Given the description of an element on the screen output the (x, y) to click on. 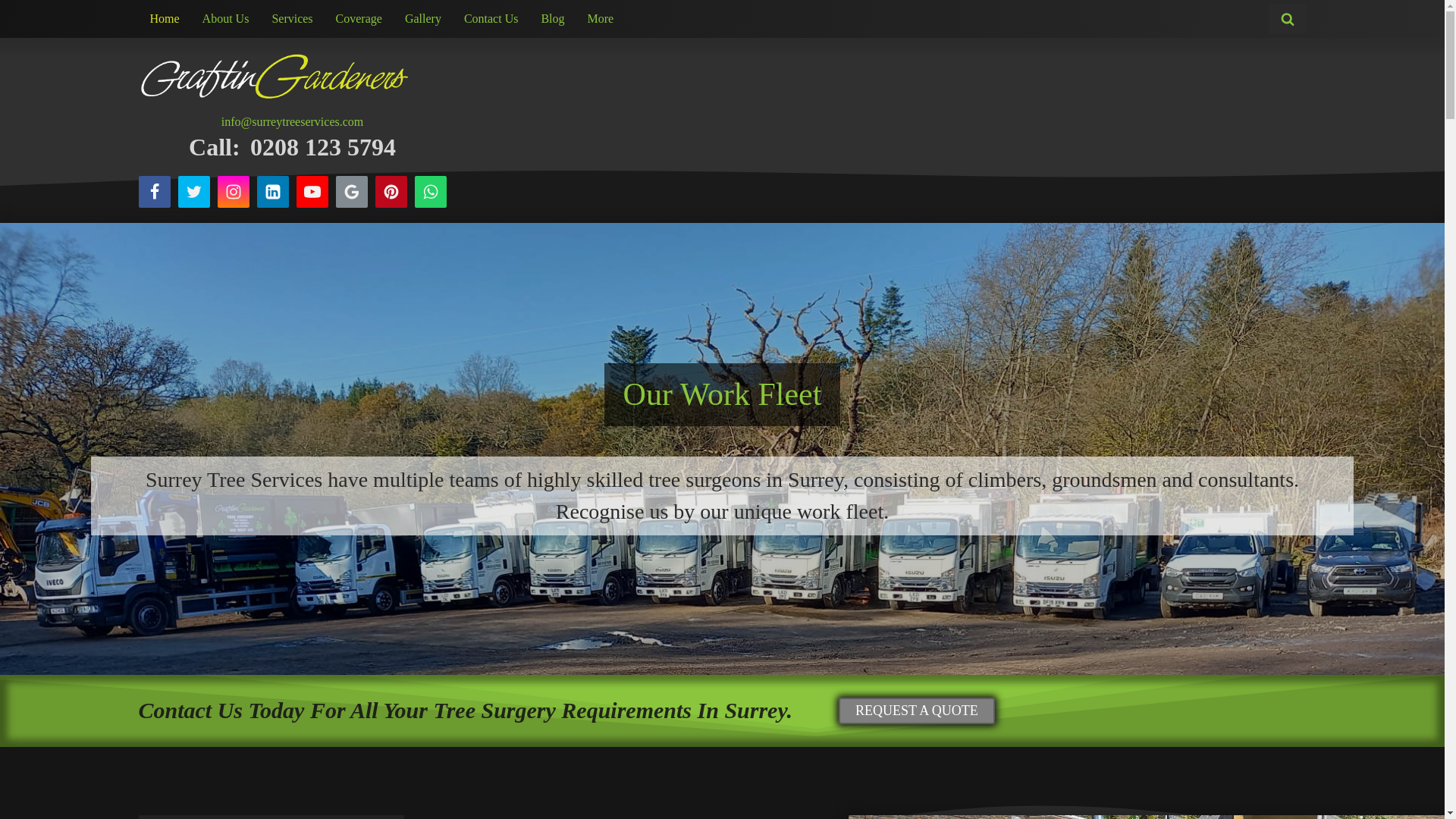
0208 123 5794 (323, 147)
Coverage (358, 18)
Contact Us (490, 18)
Home (164, 18)
More (601, 18)
About Surrey Tree Services (722, 394)
Blog (552, 18)
Gallery (422, 18)
Search (24, 10)
About Us (225, 18)
